Given the description of an element on the screen output the (x, y) to click on. 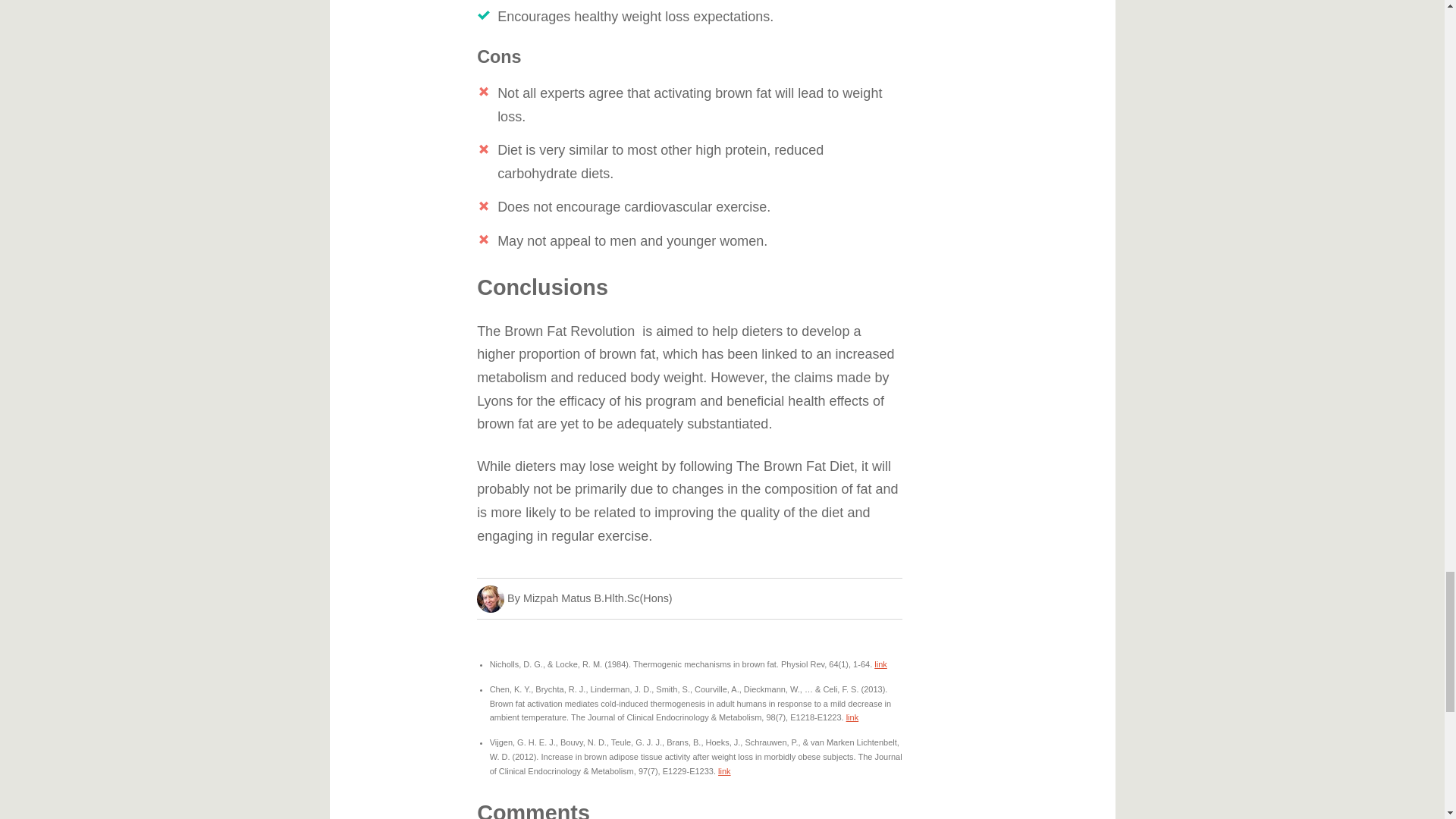
link (852, 716)
link (723, 770)
link (880, 664)
